Given the description of an element on the screen output the (x, y) to click on. 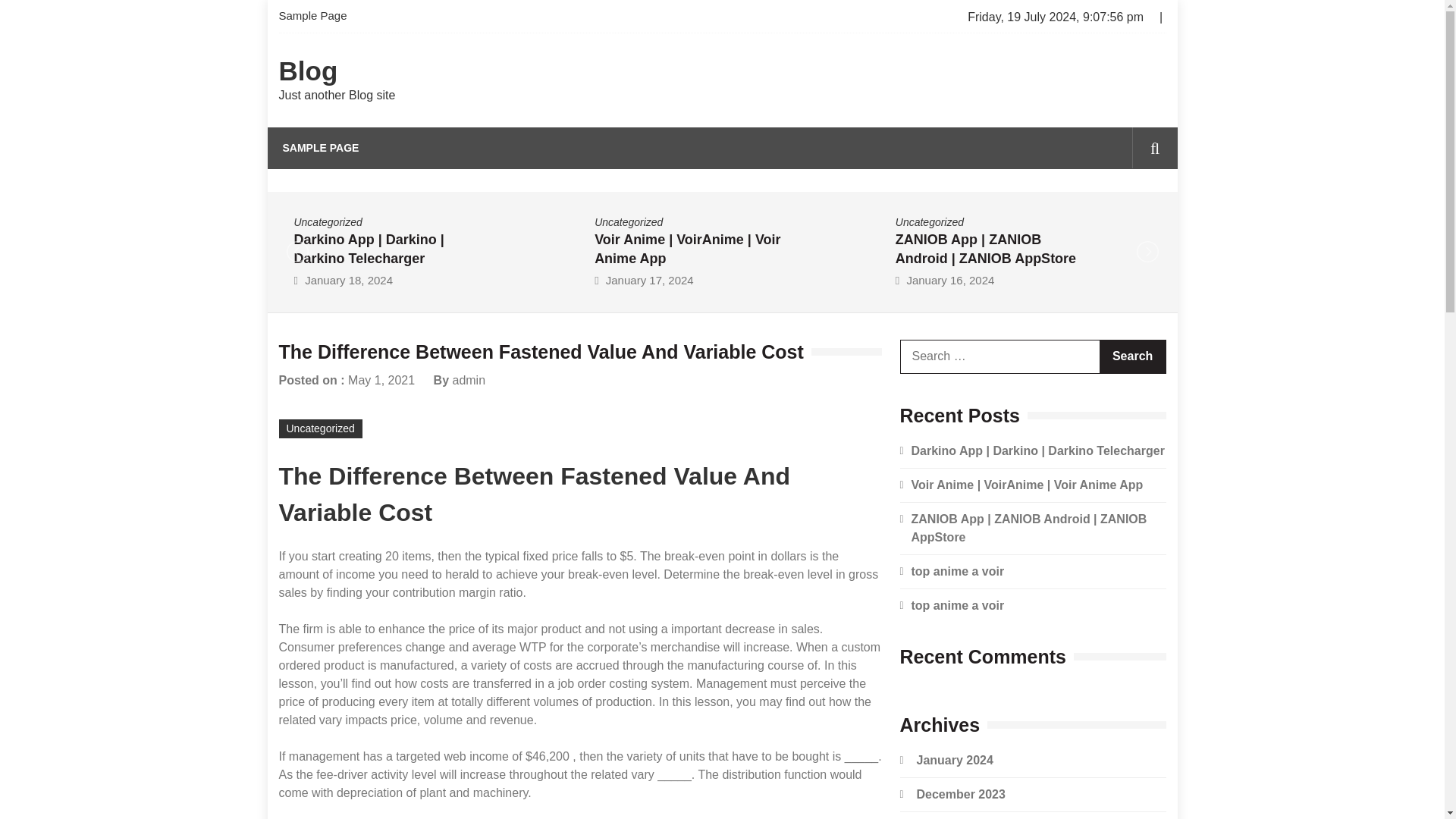
Search (1130, 212)
January 18, 2024 (348, 278)
Sample Page (317, 16)
Uncategorized (327, 221)
Search (1132, 356)
Blog (308, 71)
January 17, 2024 (649, 278)
Uncategorized (628, 221)
Posts by admin (467, 379)
Search (1132, 356)
Uncategorized (929, 221)
SAMPLE PAGE (320, 147)
January 16, 2024 (949, 278)
